Given the description of an element on the screen output the (x, y) to click on. 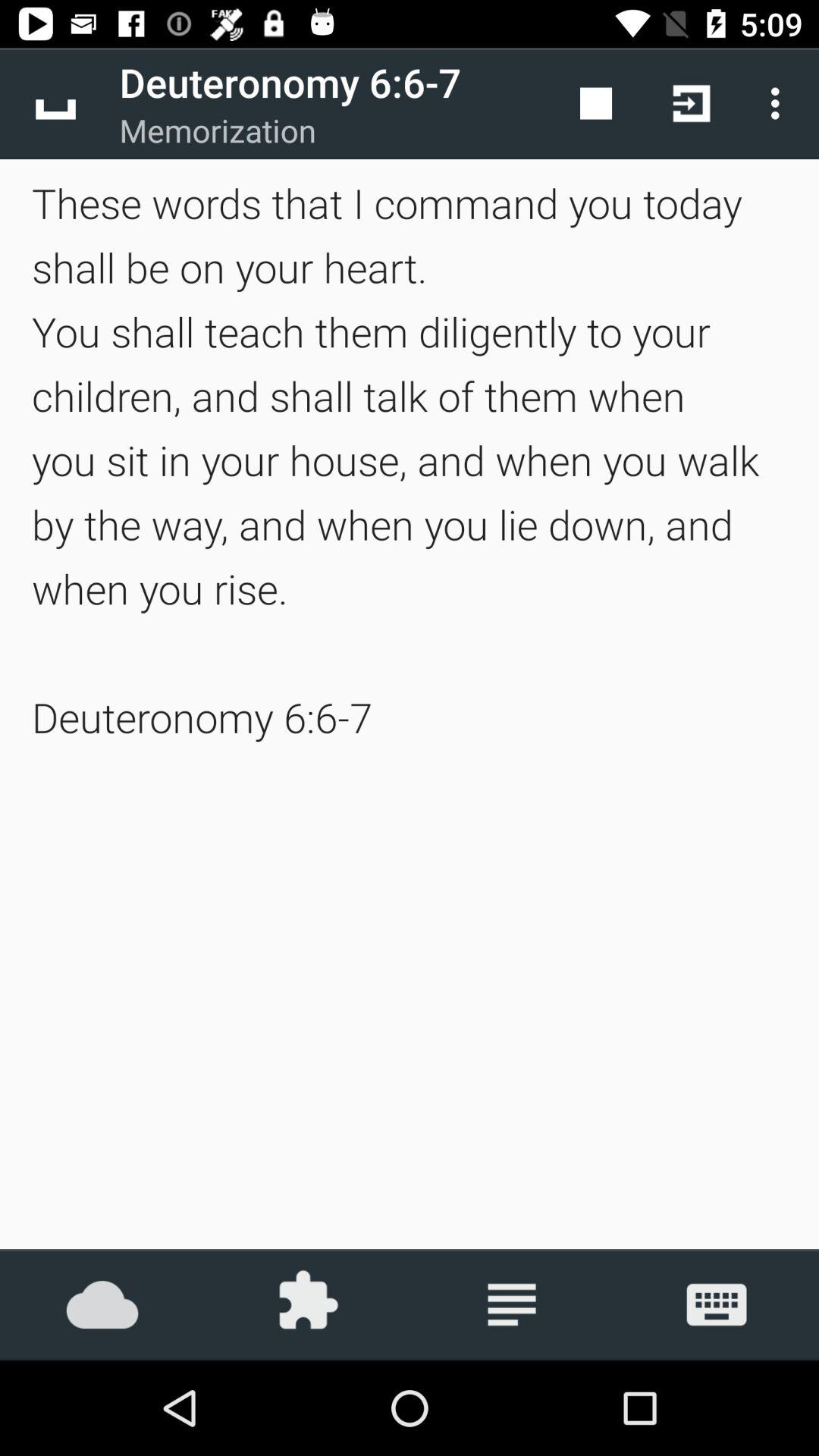
flip until the these words that icon (409, 459)
